Given the description of an element on the screen output the (x, y) to click on. 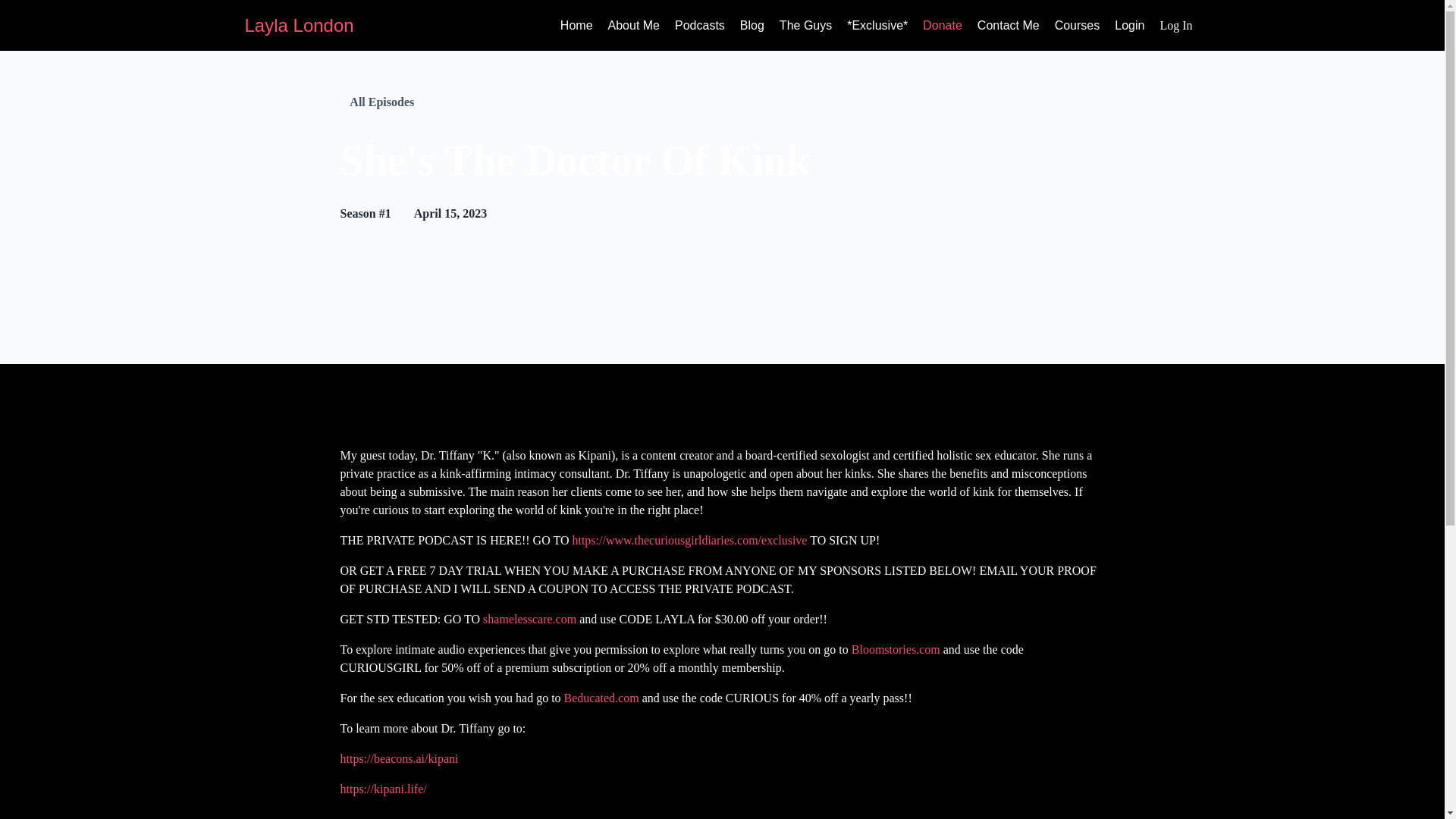
The Guys (804, 25)
Home (576, 25)
Layla London (298, 25)
Beducated.com (601, 697)
Contact Me (1007, 25)
Courses (1077, 25)
 Bloomstories.com (894, 649)
shamelesscare.com (529, 618)
Blog (751, 25)
Donate (942, 25)
